Given the description of an element on the screen output the (x, y) to click on. 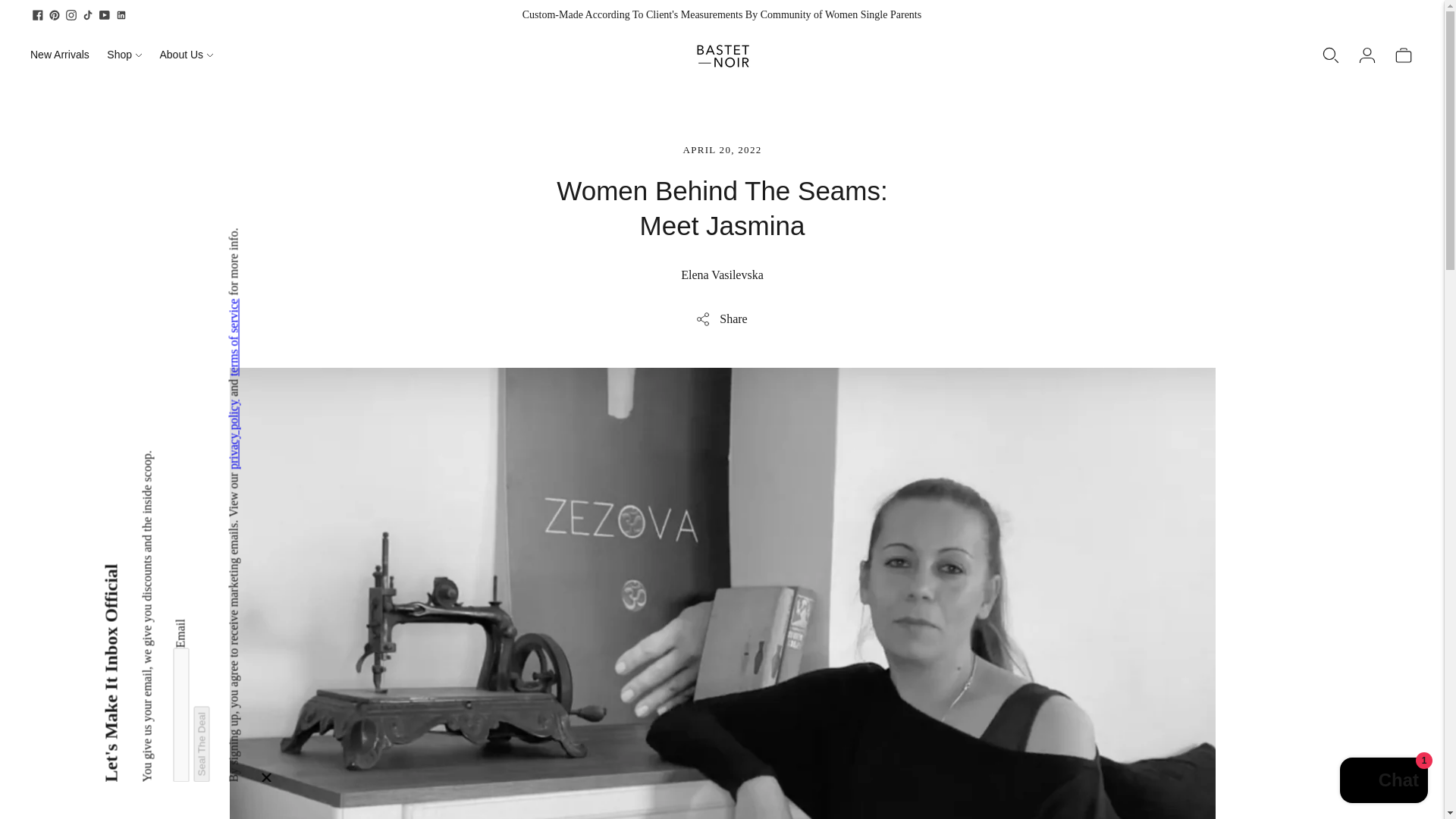
BastetNoir  on Pinterest (54, 14)
BastetNoir  on LinkedIn, (121, 14)
BastetNoir  on Instagram (71, 14)
BastetNoir  on Facebook (37, 14)
BastetNoir  on TikTok (87, 14)
Shop (123, 54)
New Arrivals (59, 54)
BastetNoir  on YouTube (104, 14)
